Given the description of an element on the screen output the (x, y) to click on. 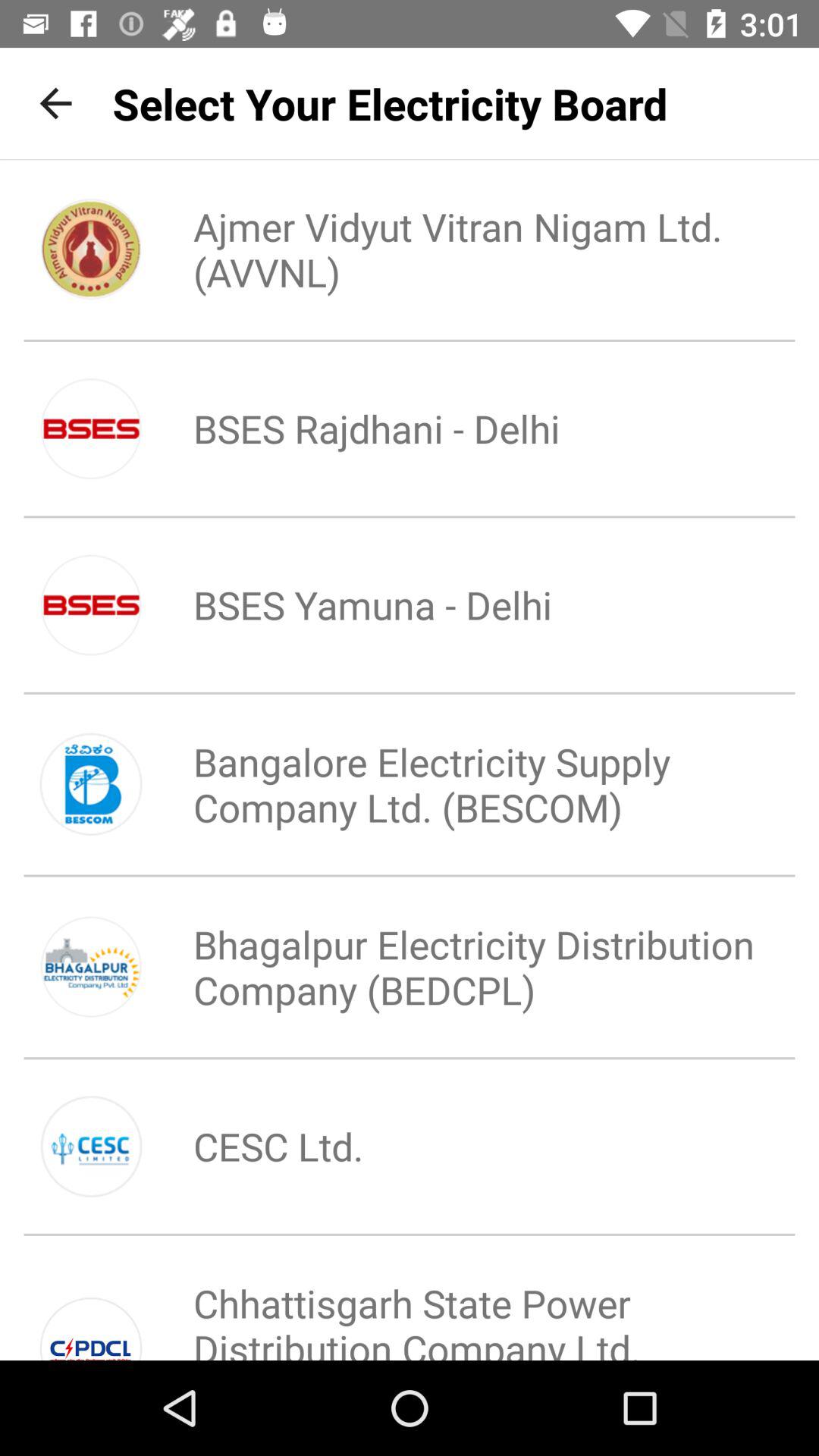
select icon below the select your electricity icon (460, 249)
